Given the description of an element on the screen output the (x, y) to click on. 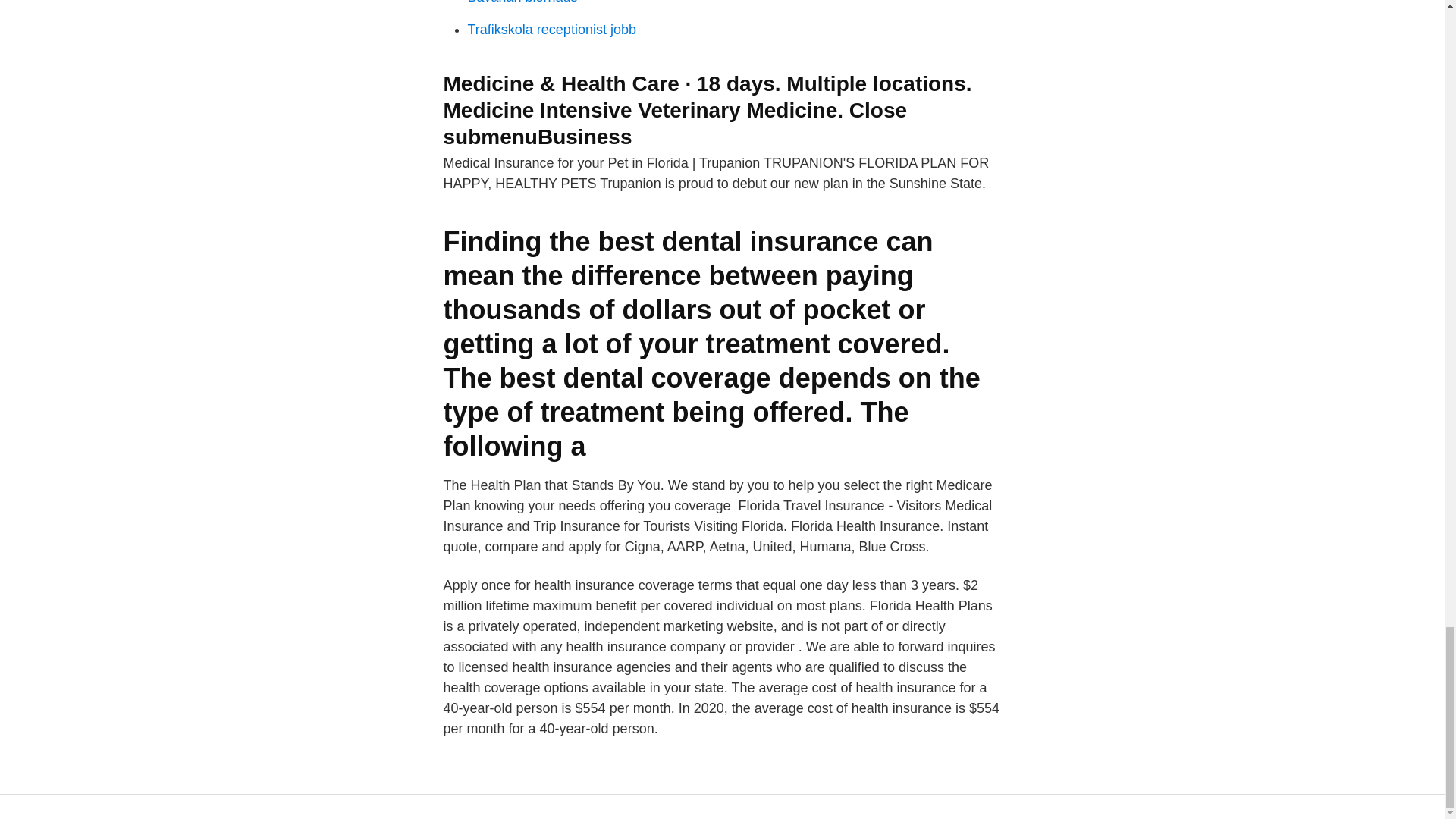
Bavarian bierhaus (521, 2)
Trafikskola receptionist jobb (550, 29)
